Given the description of an element on the screen output the (x, y) to click on. 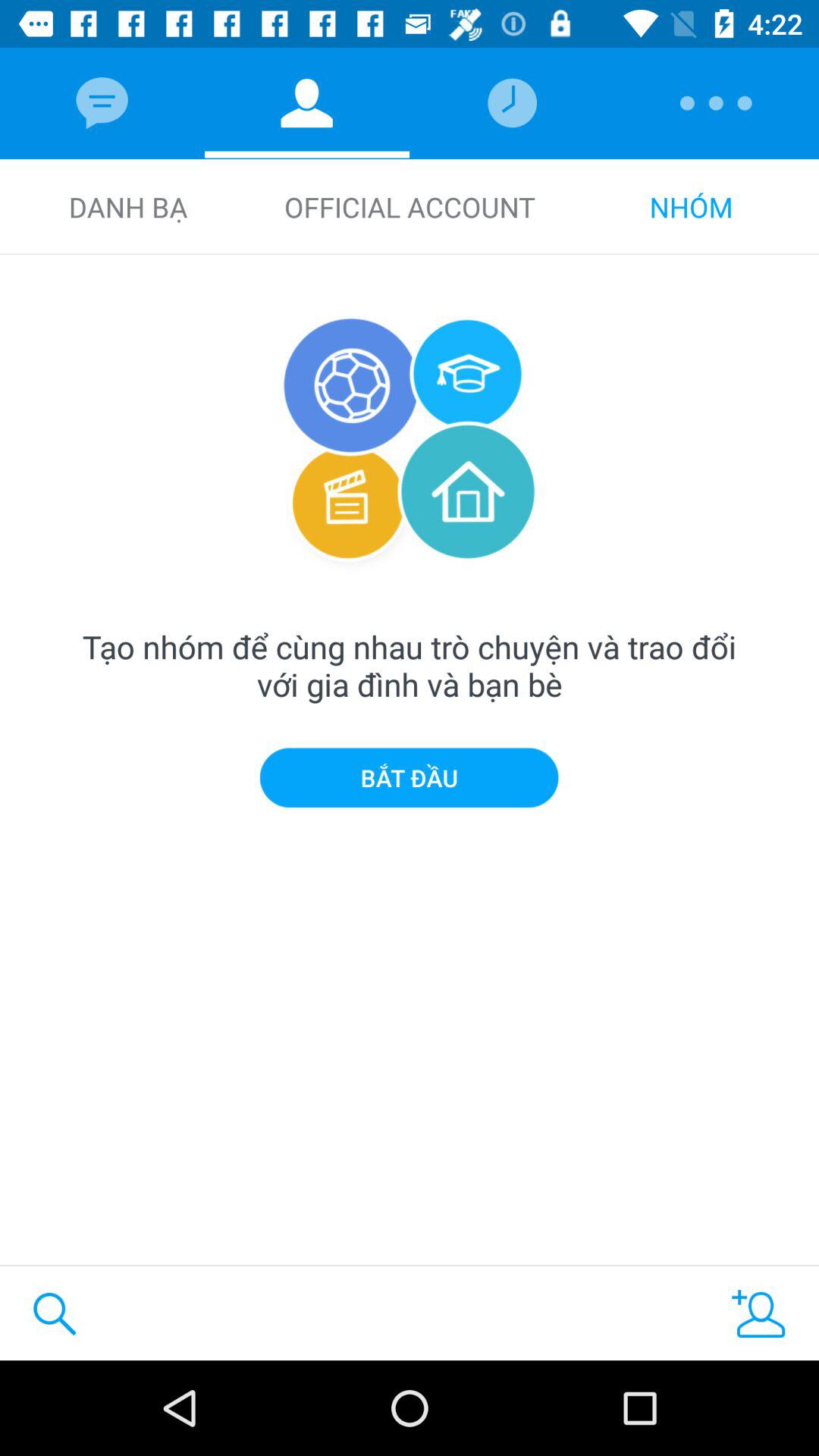
turn off the icon to the right of official account item (691, 206)
